Given the description of an element on the screen output the (x, y) to click on. 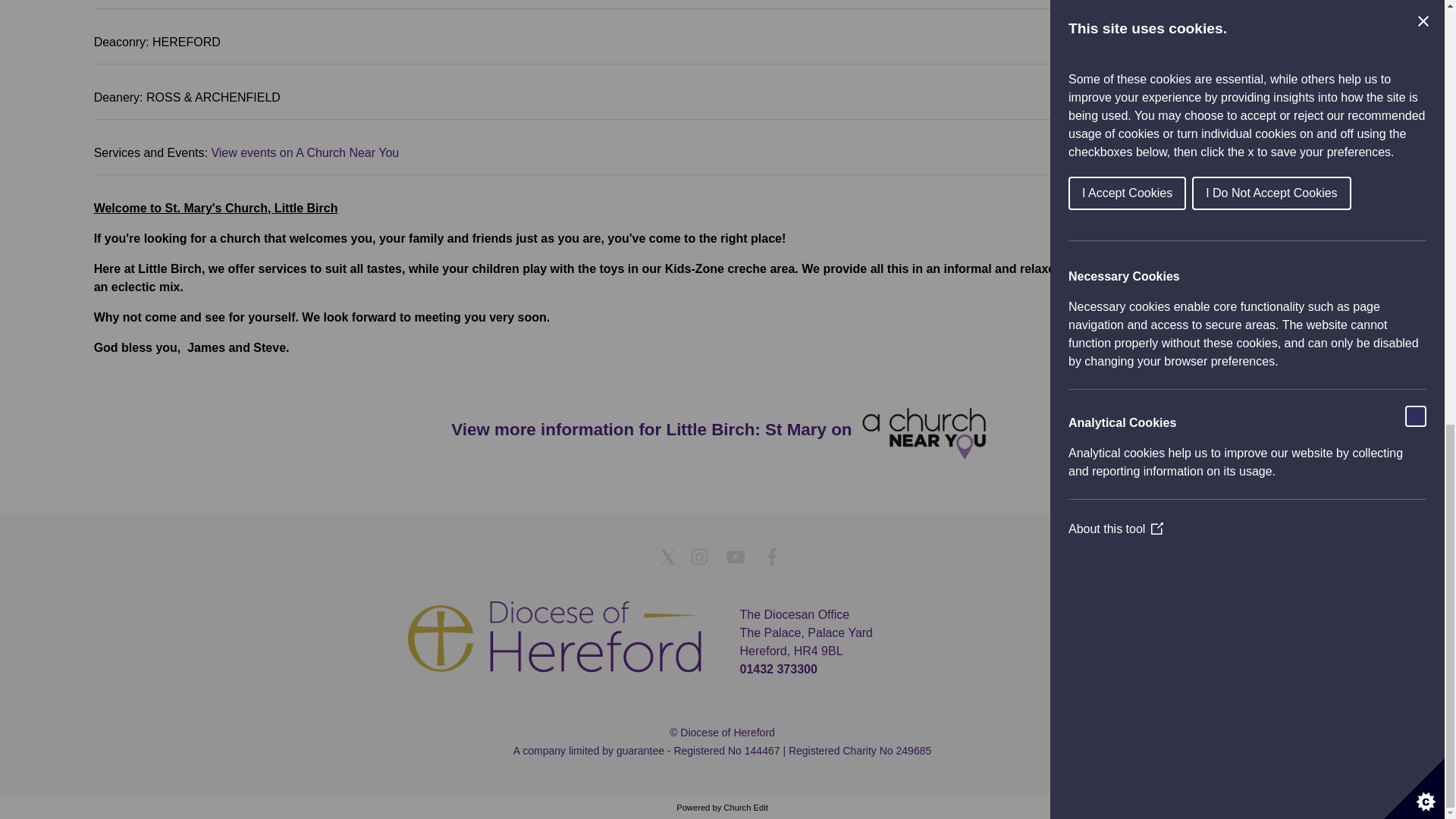
Logo (554, 637)
